Given the description of an element on the screen output the (x, y) to click on. 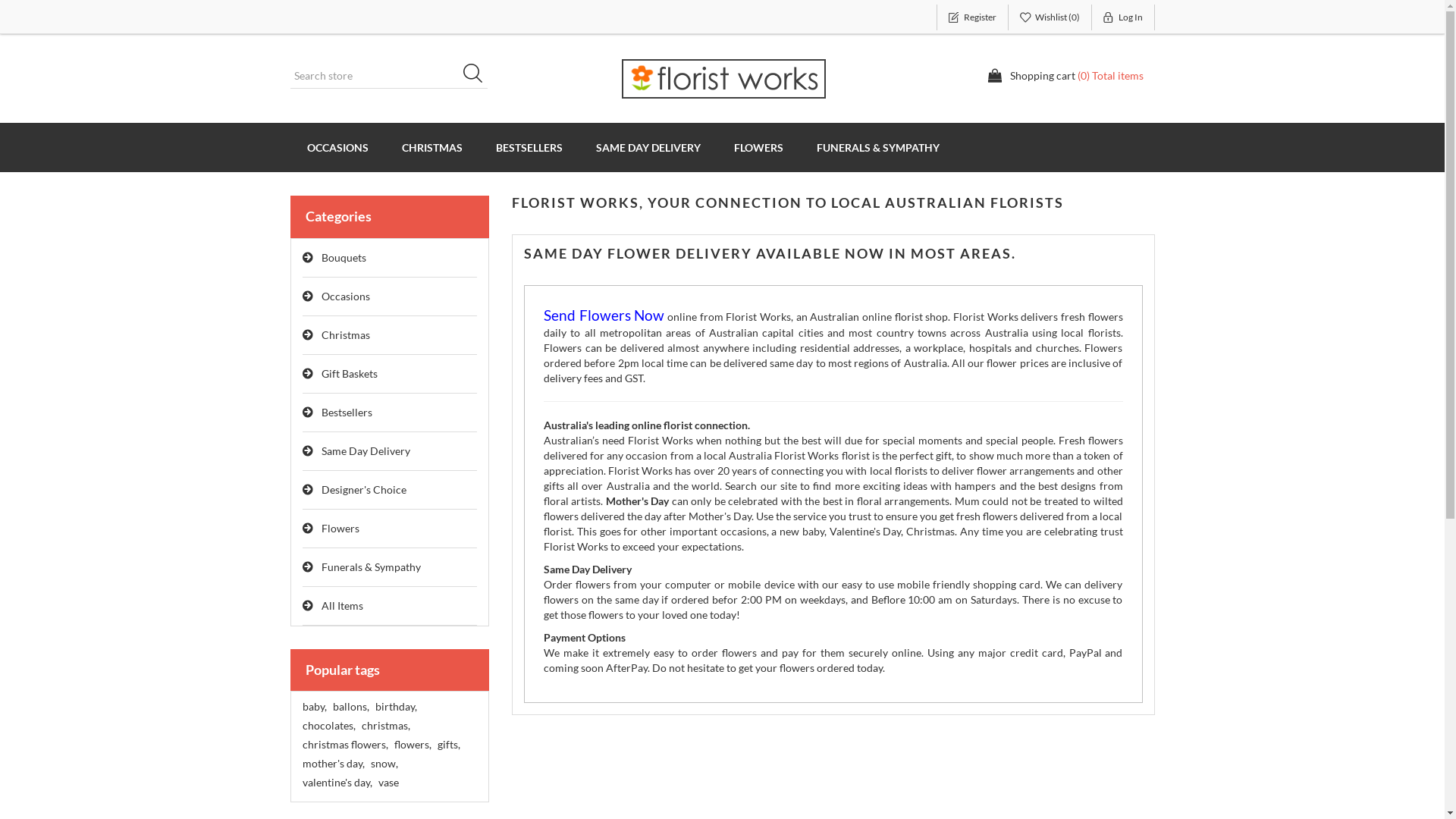
SAME DAY DELIVERY Element type: text (648, 147)
Send Flowers Now Element type: text (603, 316)
All Items Element type: text (388, 605)
chocolates, Element type: text (327, 725)
Bouquets Element type: text (388, 257)
Gift Baskets Element type: text (388, 373)
valentine's day, Element type: text (336, 782)
Log In Element type: text (1123, 17)
Wishlist (0) Element type: text (1050, 17)
FLOWERS Element type: text (758, 147)
Christmas Element type: text (388, 335)
Register Element type: text (971, 17)
Flowers Element type: text (388, 528)
birthday, Element type: text (395, 706)
Occasions Element type: text (388, 296)
Shopping cart (0) Total items Element type: text (1065, 75)
Bestsellers Element type: text (388, 412)
FUNERALS & SYMPATHY Element type: text (877, 147)
snow, Element type: text (383, 763)
Same Day Delivery Element type: text (388, 451)
OCCASIONS Element type: text (336, 147)
ballons, Element type: text (350, 706)
flowers, Element type: text (412, 744)
christmas flowers, Element type: text (344, 744)
Designer's Choice Element type: text (388, 489)
Funerals & Sympathy Element type: text (388, 567)
vase Element type: text (387, 782)
CHRISTMAS Element type: text (432, 147)
baby, Element type: text (313, 706)
gifts, Element type: text (447, 744)
mother's day, Element type: text (332, 763)
christmas, Element type: text (384, 725)
BESTSELLERS Element type: text (529, 147)
